Given the description of an element on the screen output the (x, y) to click on. 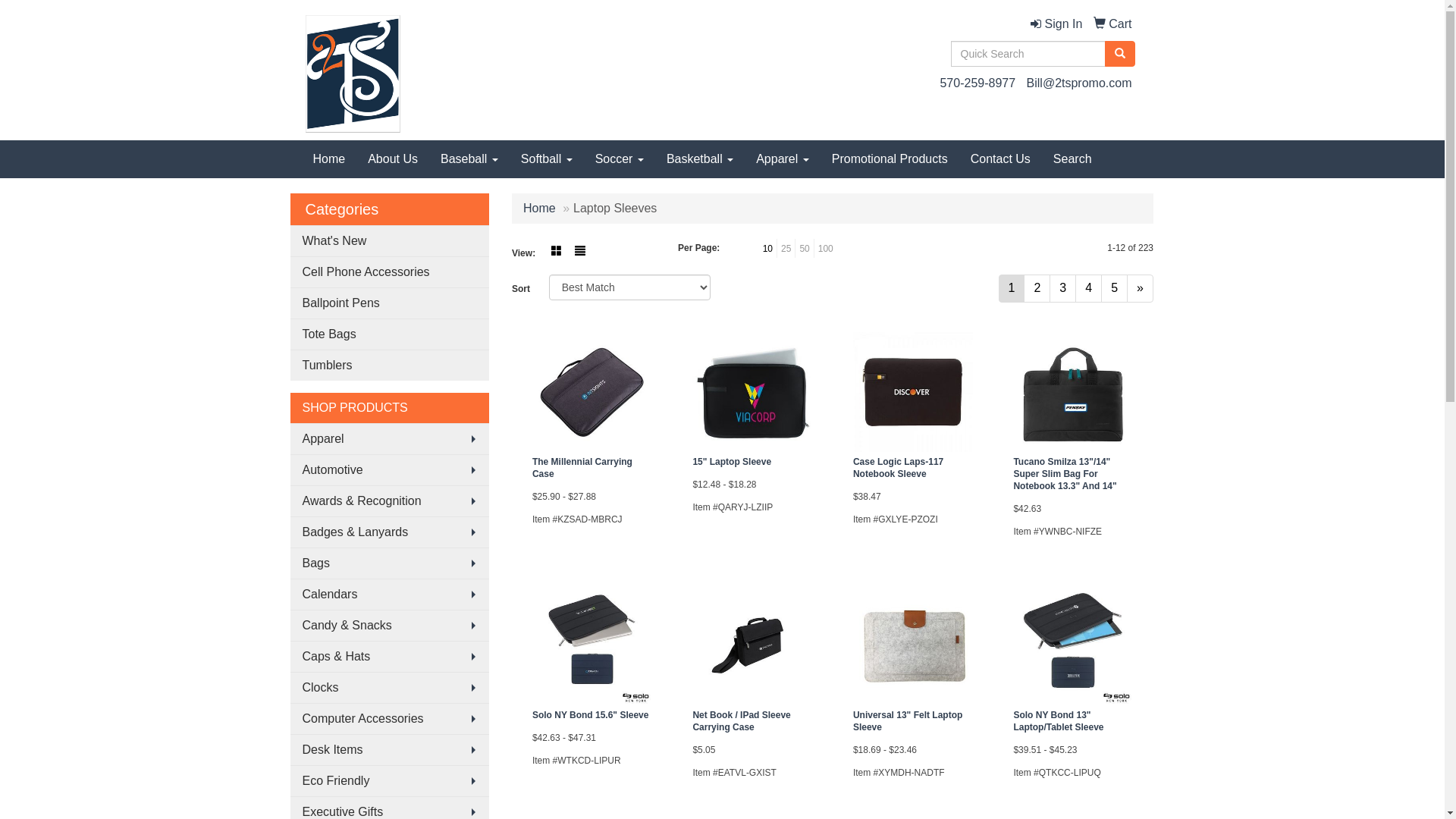
Cart Element type: text (1112, 23)
Soccer Element type: text (619, 159)
Automotive Element type: text (389, 469)
Bags Element type: text (389, 562)
Bill@2tspromo.com Element type: text (1079, 82)
Badges & Lanyards Element type: text (389, 531)
Cell Phone Accessories Element type: text (389, 271)
Clocks Element type: text (389, 686)
Softball Element type: text (546, 159)
Promotional Products Element type: text (889, 159)
Desk Items Element type: text (389, 749)
Search Element type: text (1072, 159)
Calendars Element type: text (389, 593)
Baseball Element type: text (469, 159)
Home Element type: text (329, 159)
Basketball Element type: text (699, 159)
What's New Element type: text (389, 240)
Apparel Element type: text (389, 438)
Apparel Element type: text (782, 159)
Contact Us Element type: text (1000, 159)
Sign In Element type: text (1056, 23)
Computer Accessories Element type: text (389, 718)
570-259-8977 Element type: text (977, 82)
Candy & Snacks Element type: text (389, 624)
About Us Element type: text (392, 159)
Eco Friendly Element type: text (389, 780)
Tumblers Element type: text (389, 364)
Caps & Hats Element type: text (389, 655)
Ballpoint Pens Element type: text (389, 302)
Awards & Recognition Element type: text (389, 500)
Tote Bags Element type: text (389, 333)
